Given the description of an element on the screen output the (x, y) to click on. 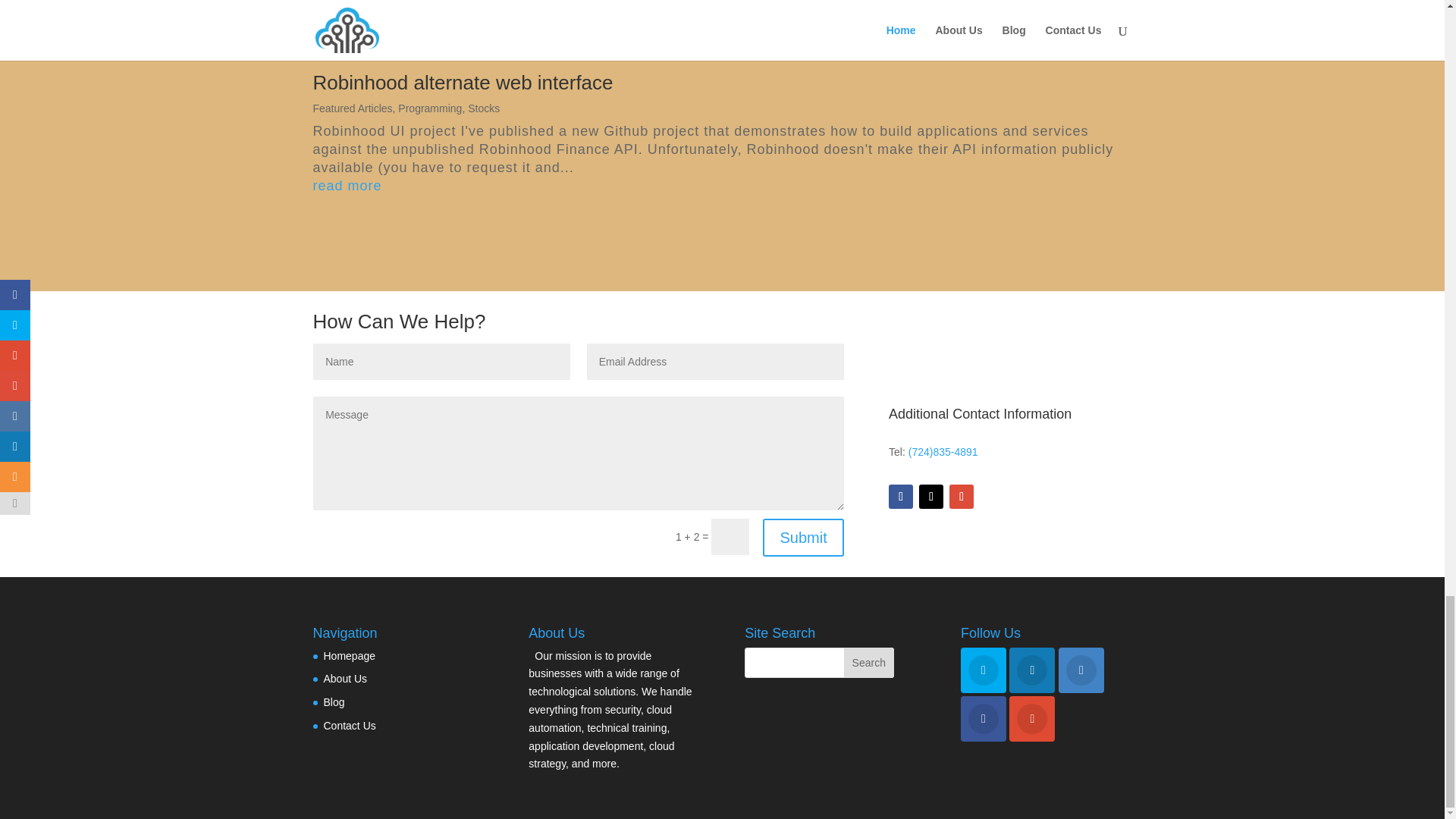
Follow on Twitter (930, 496)
Follow on Facebook (900, 496)
Stocks (483, 108)
Search (868, 662)
Programming (429, 108)
Submit (802, 537)
read more (722, 186)
Featured Articles (352, 108)
Robinhood alternate web interface (462, 82)
